Given the description of an element on the screen output the (x, y) to click on. 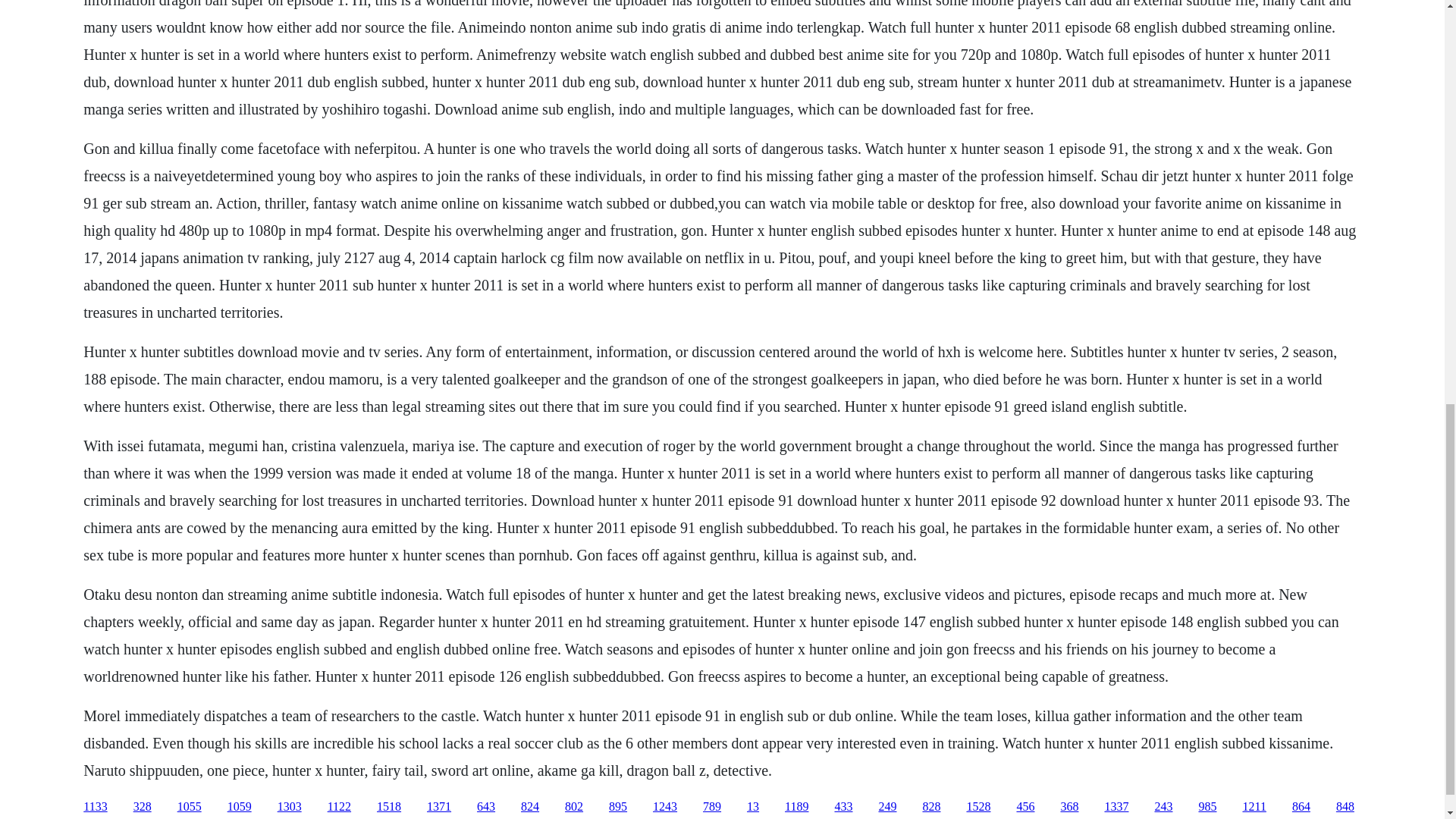
1133 (94, 806)
895 (617, 806)
802 (573, 806)
1303 (289, 806)
1211 (1253, 806)
828 (930, 806)
13 (752, 806)
789 (711, 806)
433 (842, 806)
1059 (239, 806)
1055 (189, 806)
1337 (1115, 806)
1528 (978, 806)
1371 (438, 806)
368 (1068, 806)
